Given the description of an element on the screen output the (x, y) to click on. 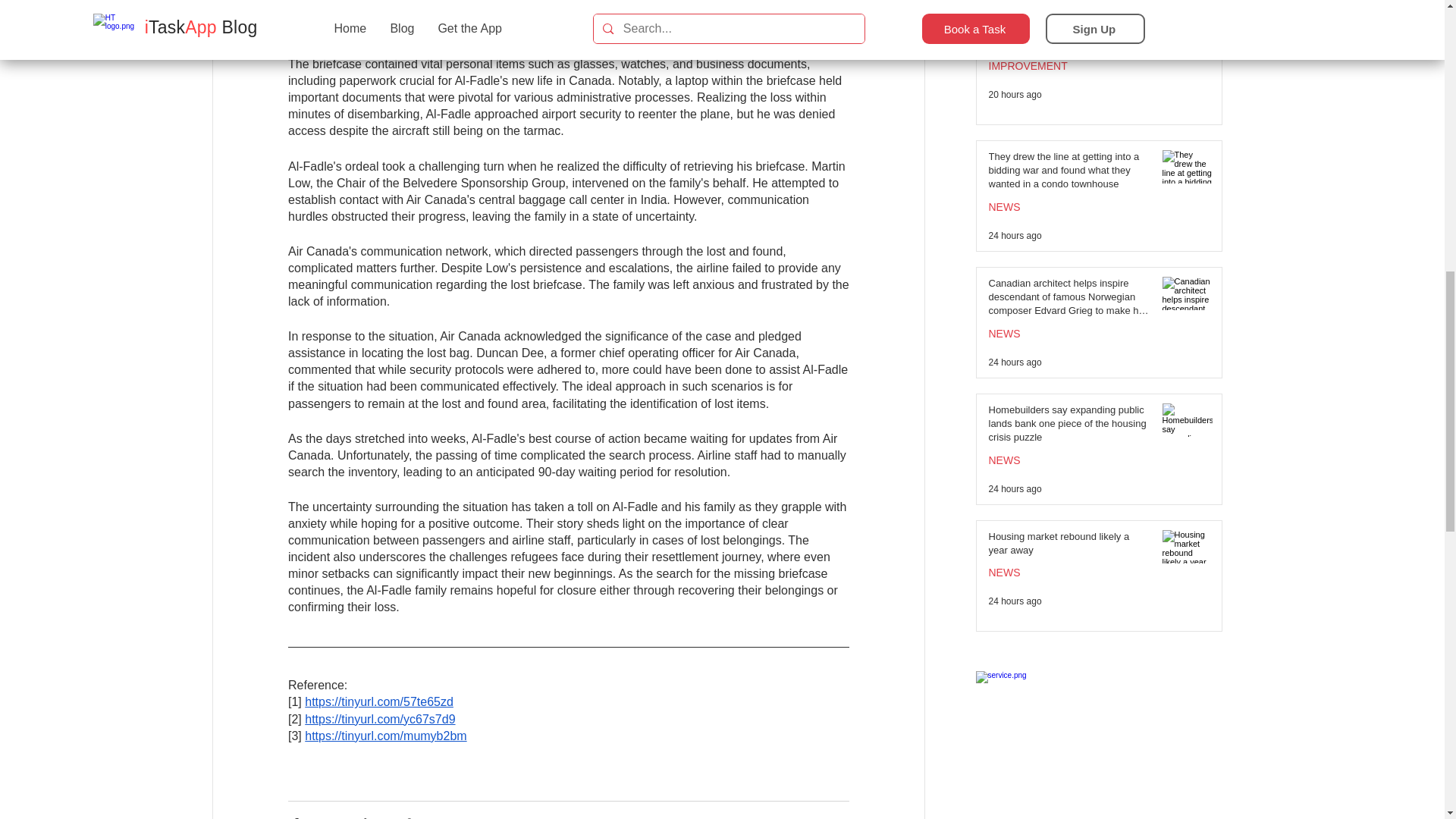
24 hours ago (1015, 489)
Smart Appliance Trends for Modern Homes in Ontario (1069, 39)
20 hours ago (1015, 94)
24 hours ago (1015, 601)
24 hours ago (1015, 235)
NEWS (832, 818)
24 hours ago (1015, 362)
